Given the description of an element on the screen output the (x, y) to click on. 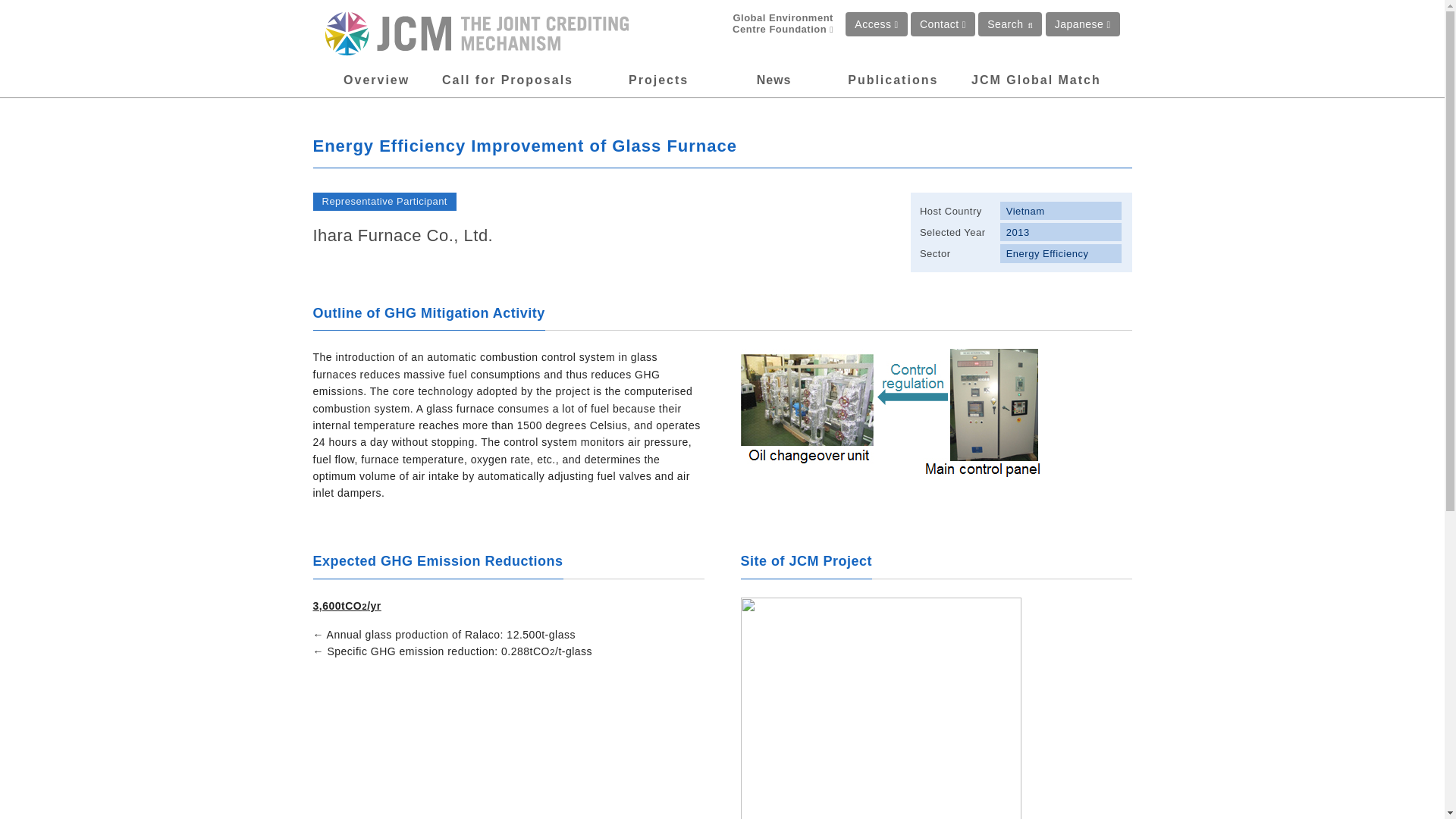
Global Environment Centre Foundation (769, 24)
Contact (943, 24)
2013 (1061, 231)
Japanese (1082, 24)
Publications (892, 79)
JCM Global Match (1035, 79)
Energy Efficiency (1061, 253)
News (773, 79)
Call for Proposals (508, 79)
Access (876, 24)
